Given the description of an element on the screen output the (x, y) to click on. 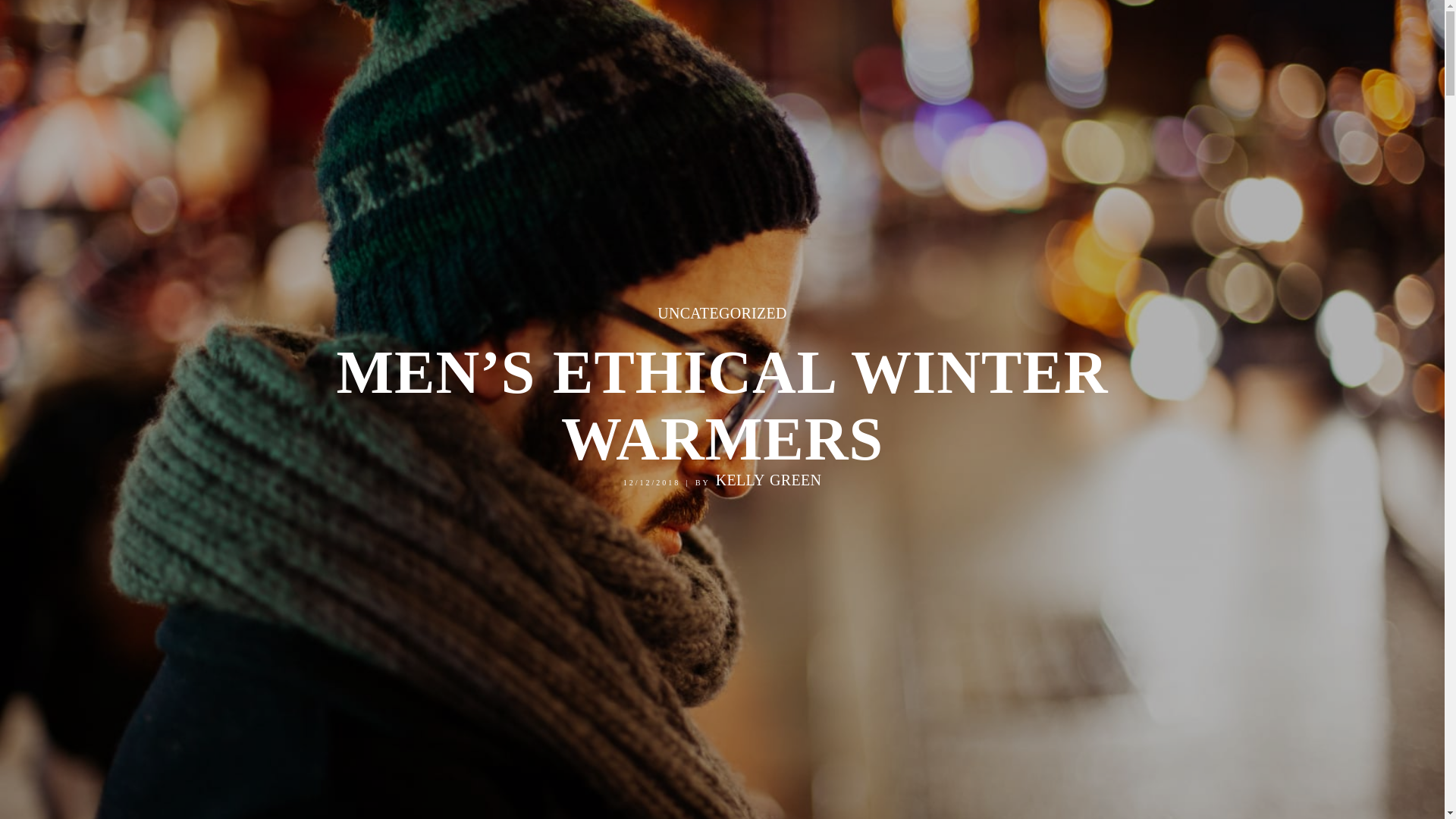
UNCATEGORIZED (722, 312)
KELLY GREEN (769, 479)
